Given the description of an element on the screen output the (x, y) to click on. 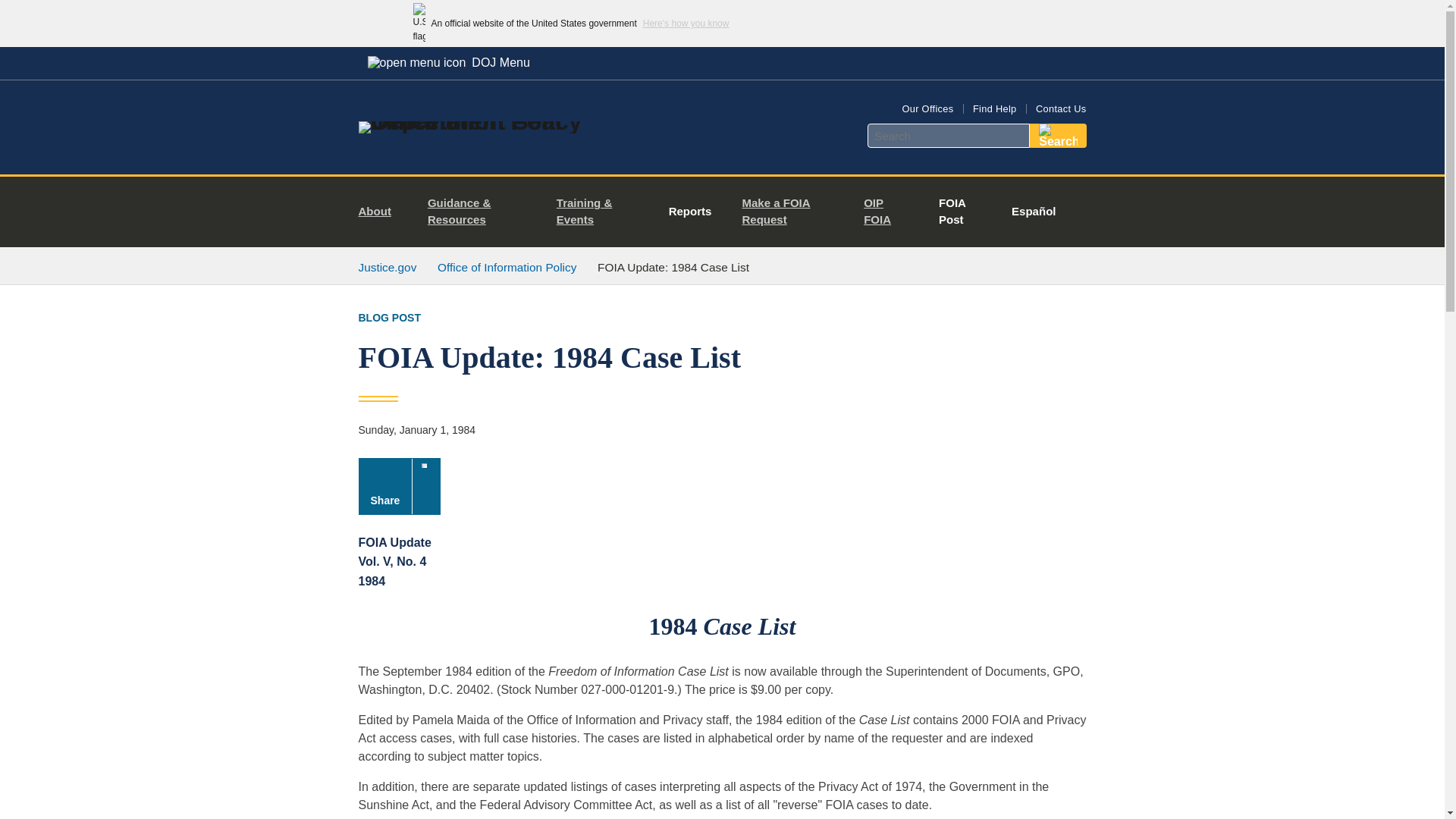
Contact Us (1060, 108)
FOIA Post (956, 211)
Justice.gov (387, 267)
DOJ Menu (448, 62)
Home (481, 121)
Here's how you know (686, 23)
About (380, 211)
Make a FOIA Request (790, 211)
Reports (690, 211)
Find Help (994, 108)
Office of Information Policy (507, 267)
Our Offices (927, 108)
OIP FOIA (885, 211)
Share (398, 486)
